Given the description of an element on the screen output the (x, y) to click on. 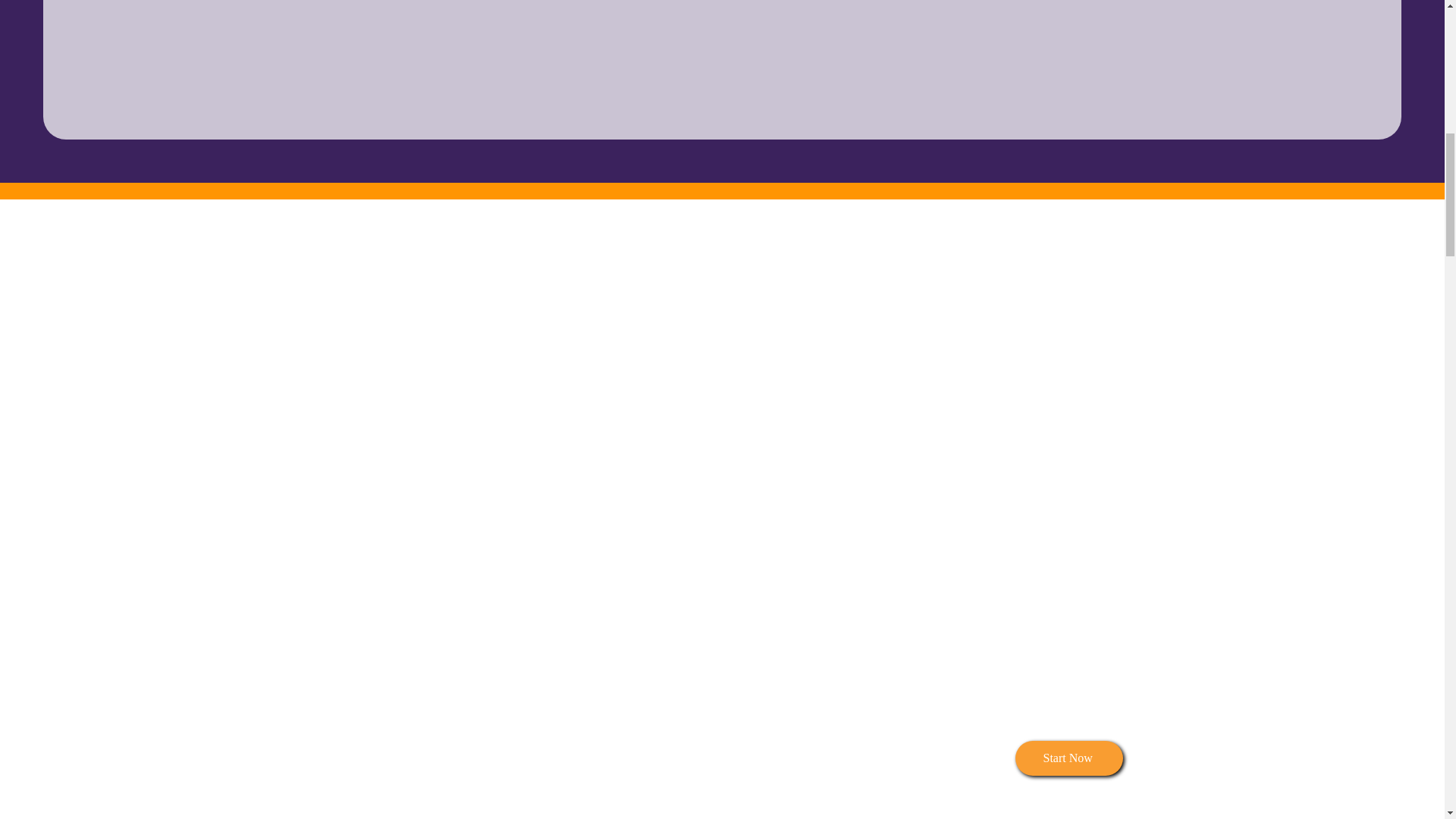
Start Now (1068, 758)
